Given the description of an element on the screen output the (x, y) to click on. 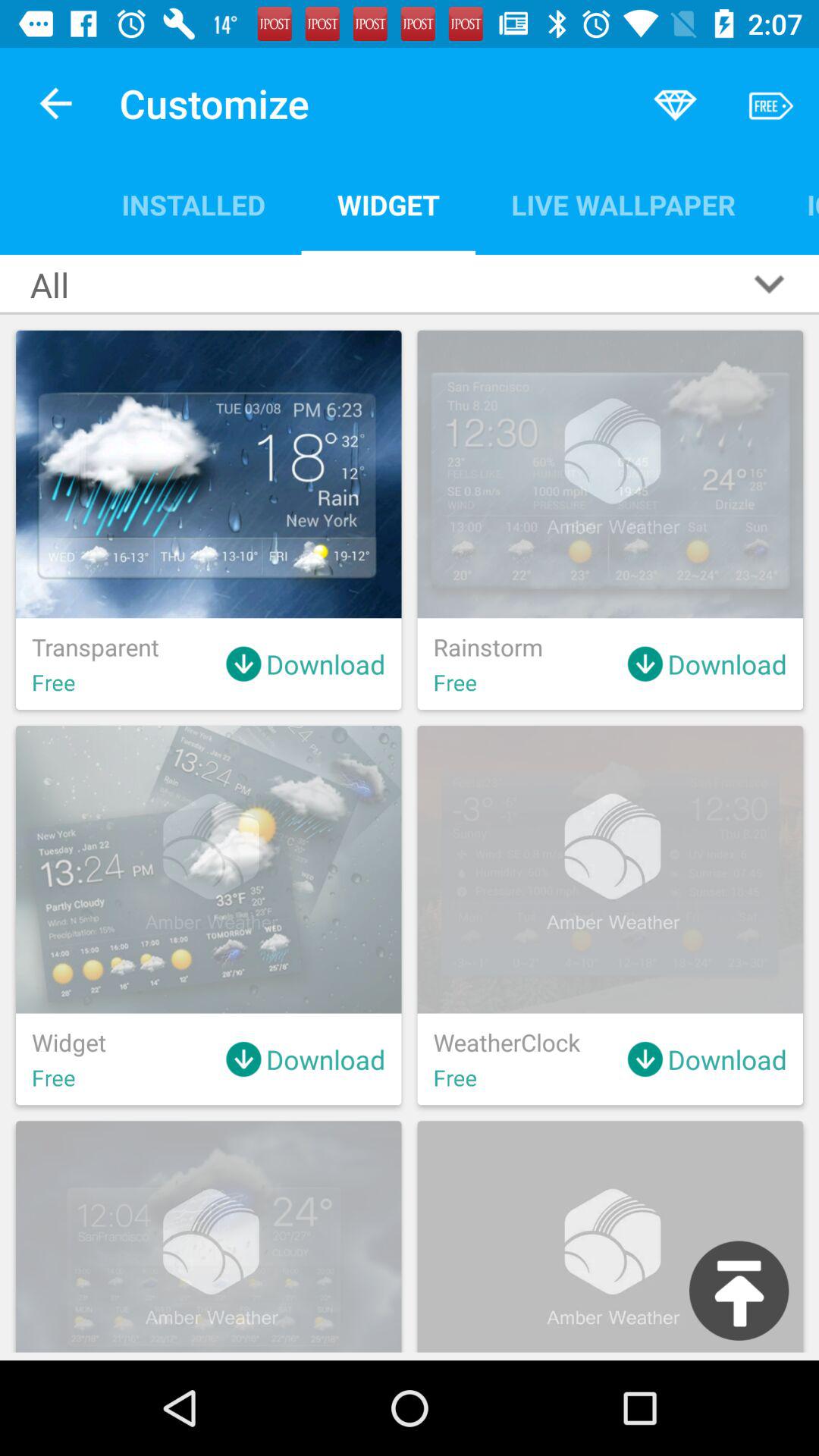
jump until icon set icon (795, 204)
